Given the description of an element on the screen output the (x, y) to click on. 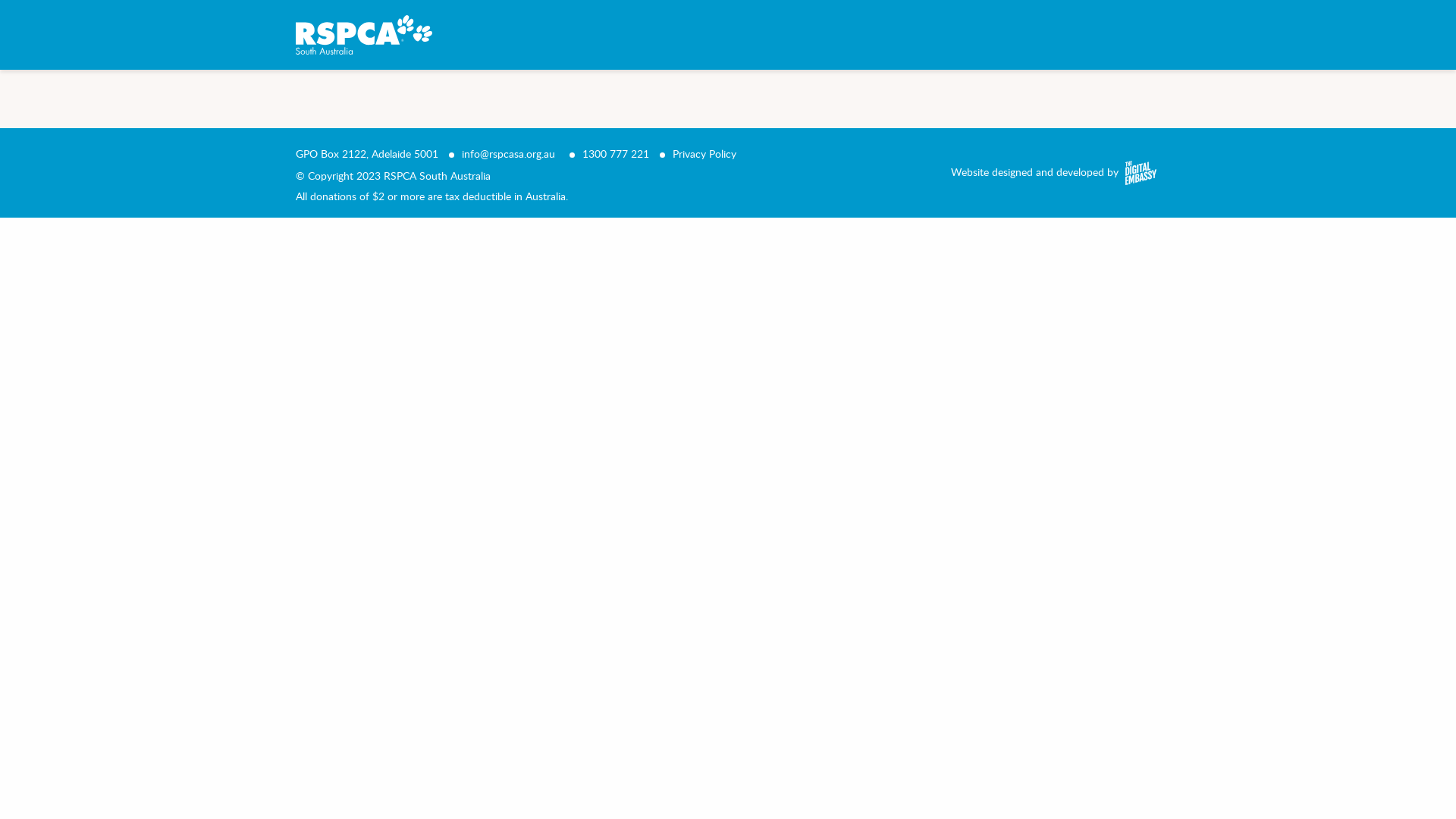
Web Design & Development by The Digital Embassy Element type: hover (1138, 172)
Privacy Policy Element type: text (704, 153)
1300 777 221 Element type: text (615, 153)
Website designed and developed by Element type: text (1034, 171)
info@rspcasa.org.au Element type: text (508, 153)
